Given the description of an element on the screen output the (x, y) to click on. 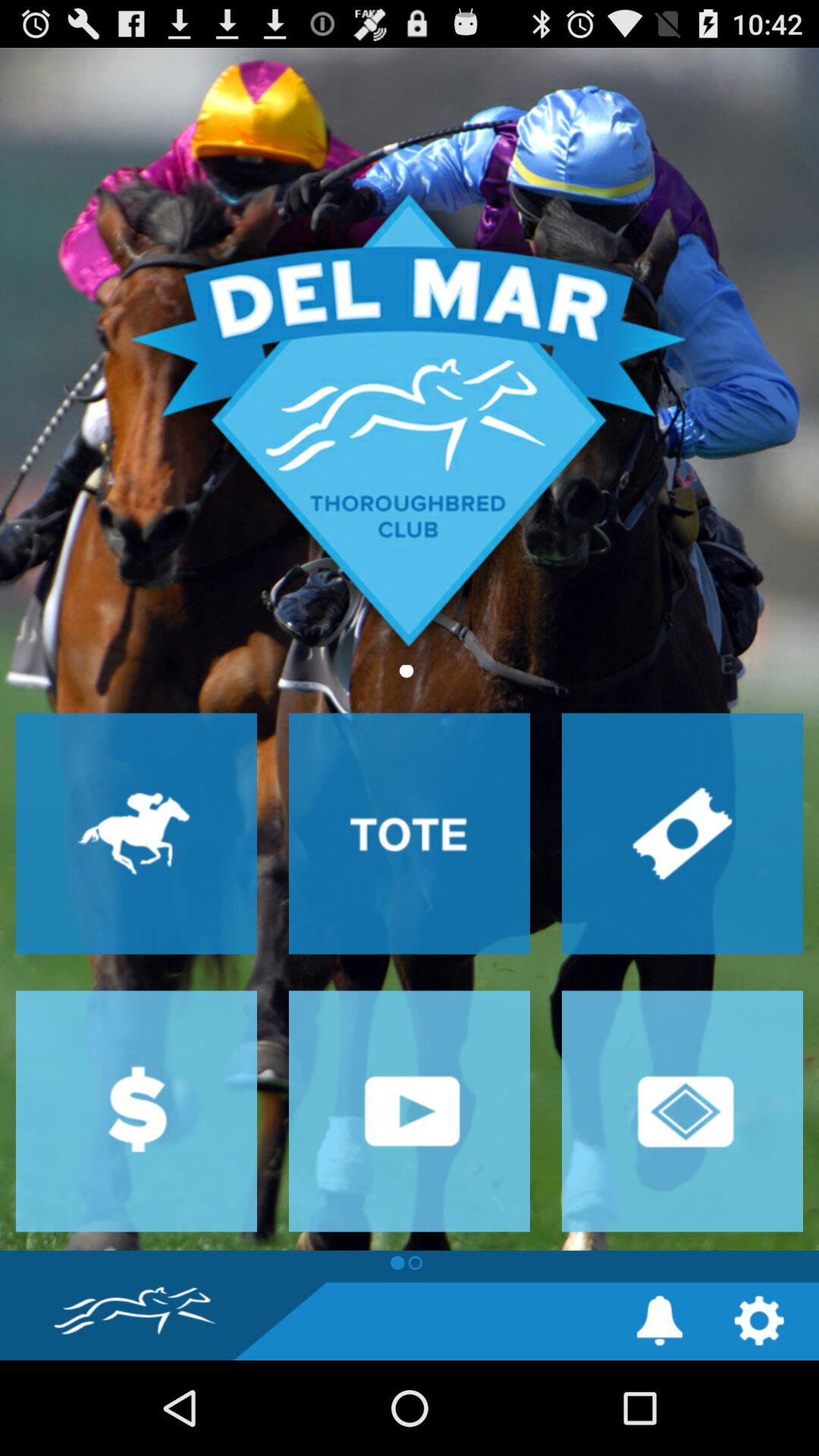
notifications alert (659, 1320)
